Given the description of an element on the screen output the (x, y) to click on. 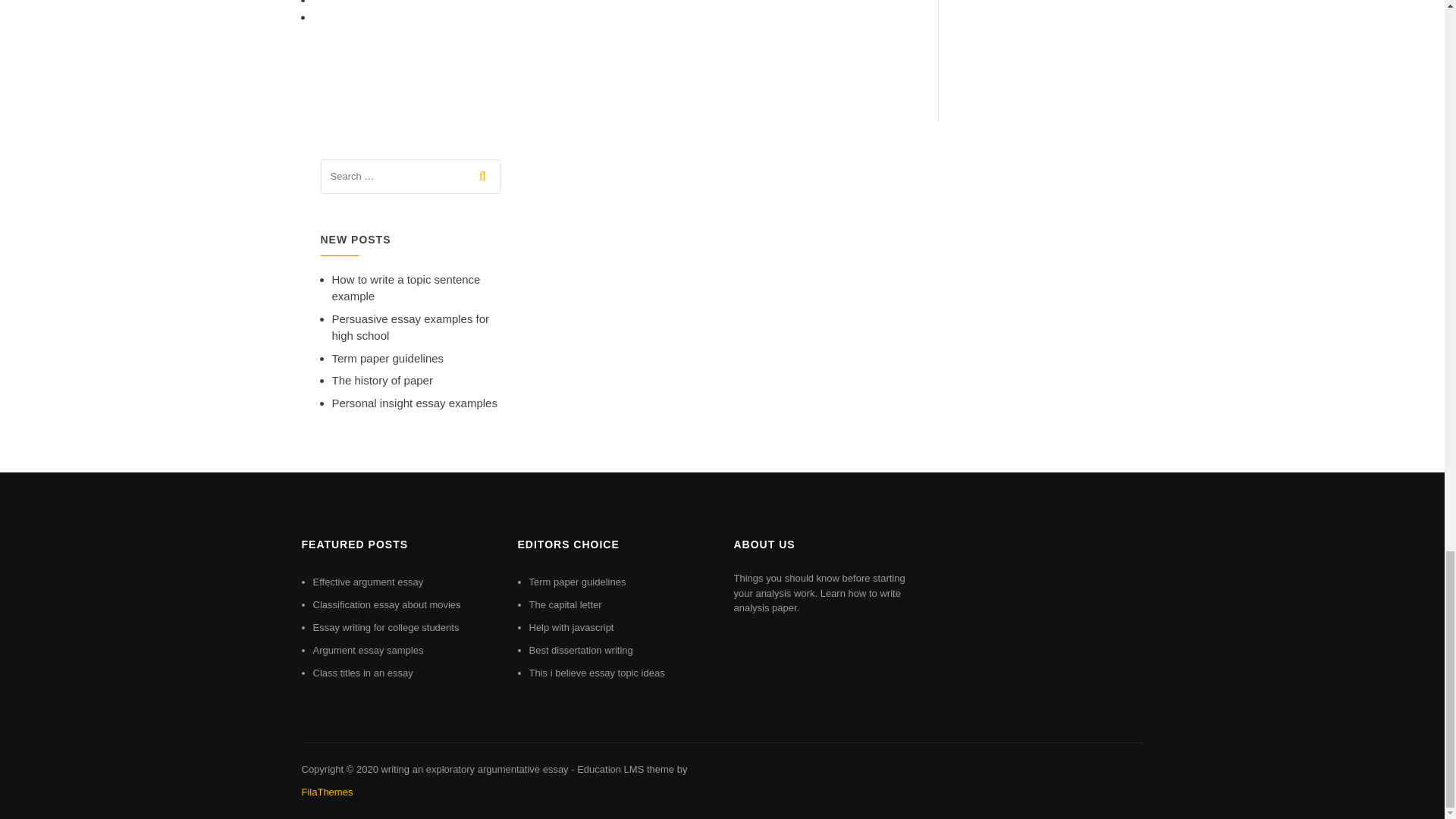
How to write a topic sentence example (405, 287)
The capital letter (565, 604)
This i believe essay topic ideas (597, 672)
The history of paper (381, 379)
writing an exploratory argumentative essay (473, 768)
Personal insight essay examples (414, 402)
Argument essay samples (368, 650)
Essay writing for college students (385, 627)
writing an exploratory argumentative essay (473, 768)
Help with javascript (571, 627)
Best dissertation writing (581, 650)
Class titles in an essay (362, 672)
Classification essay about movies (386, 604)
Term paper guidelines (387, 358)
Persuasive essay examples for high school (410, 327)
